Given the description of an element on the screen output the (x, y) to click on. 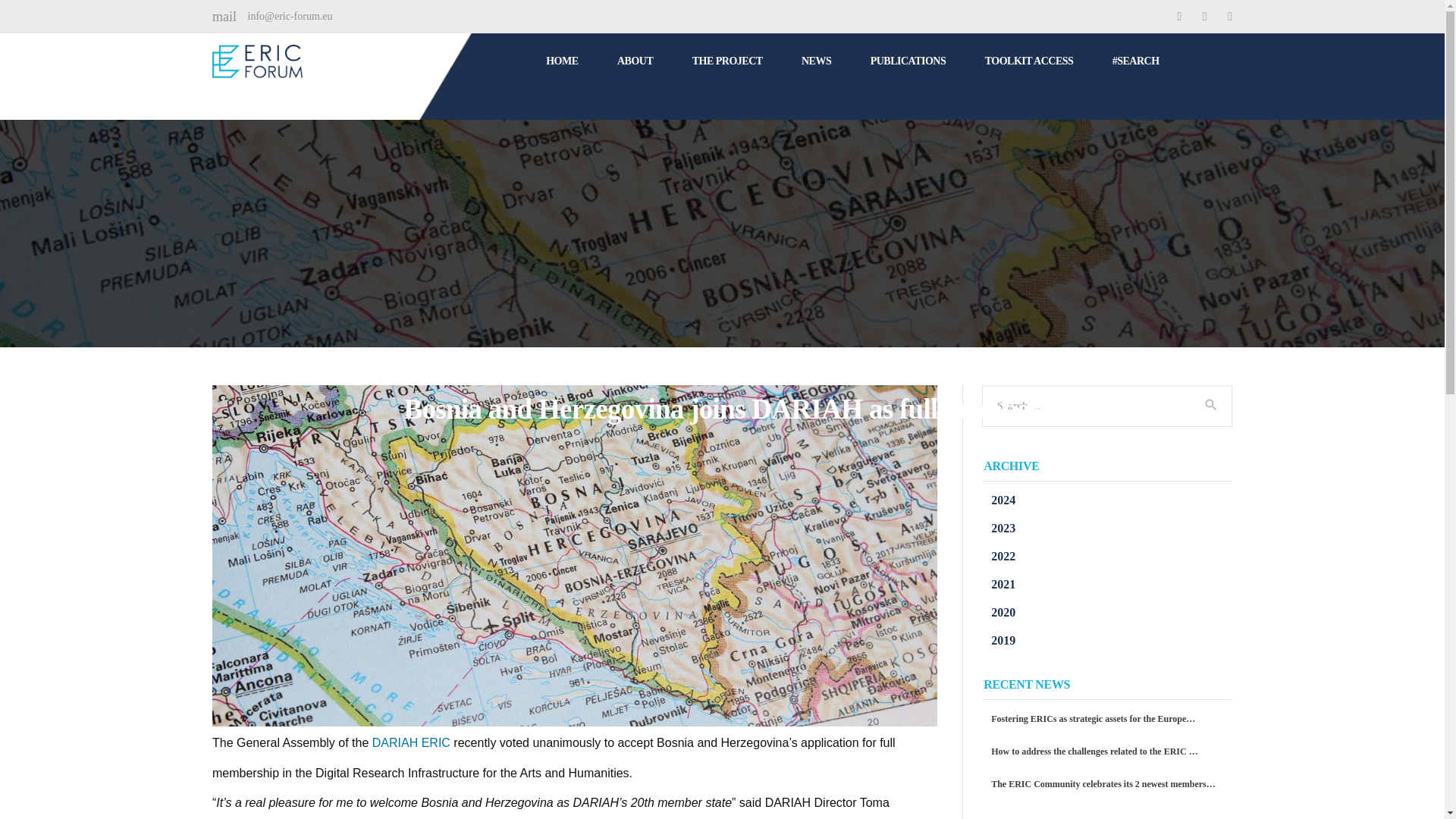
THE PROJECT (727, 60)
NEWS (816, 60)
ABOUT (634, 60)
HOME (562, 60)
